Given the description of an element on the screen output the (x, y) to click on. 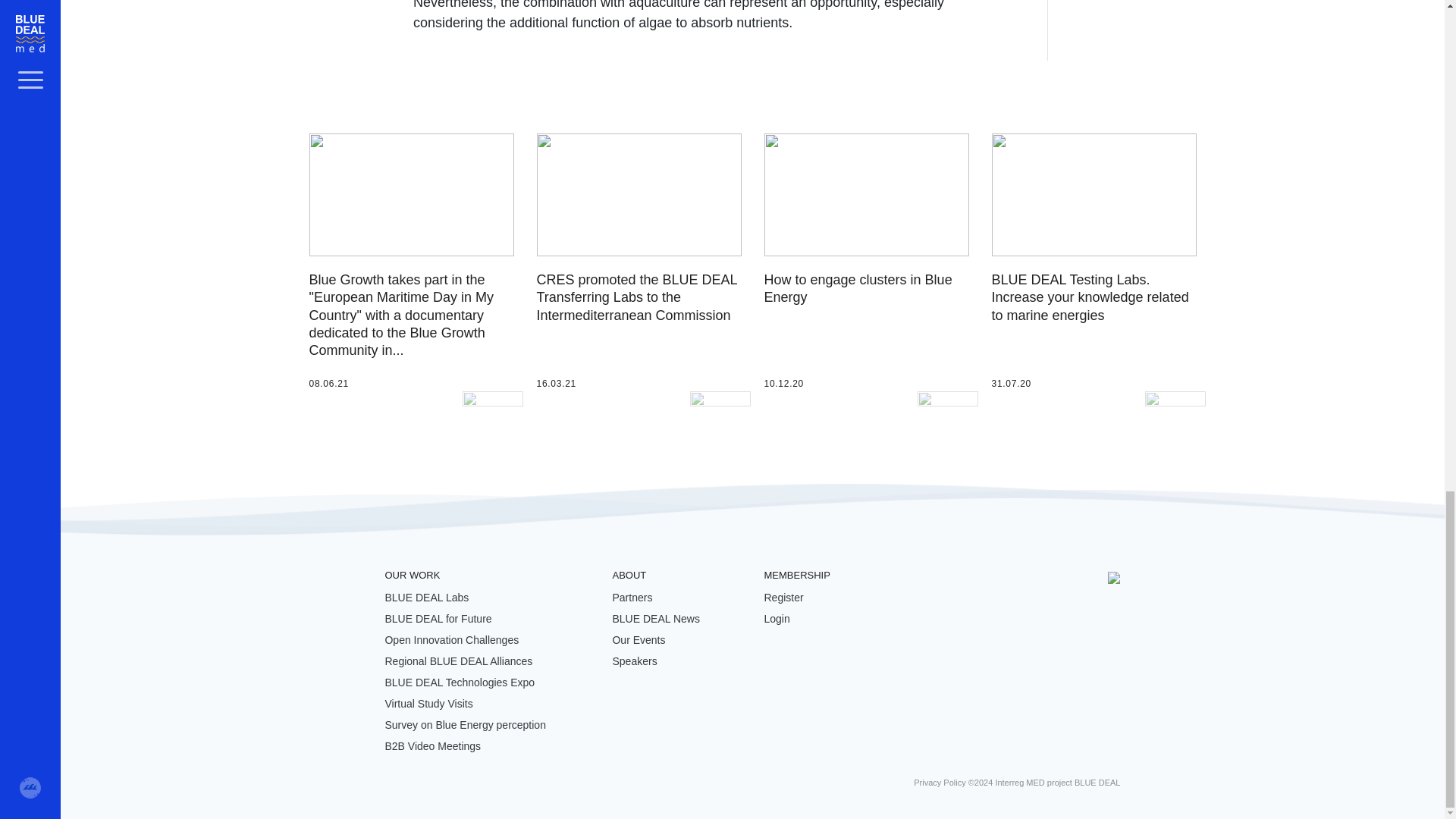
How to engage clusters in Blue Energy (858, 287)
Open Innovation Challenges (451, 639)
BLUE DEAL for Future (438, 618)
BLUE DEAL Labs (426, 597)
BLUE DEAL Technologies Expo (459, 682)
Regional BLUE DEAL Alliances (458, 661)
